Given the description of an element on the screen output the (x, y) to click on. 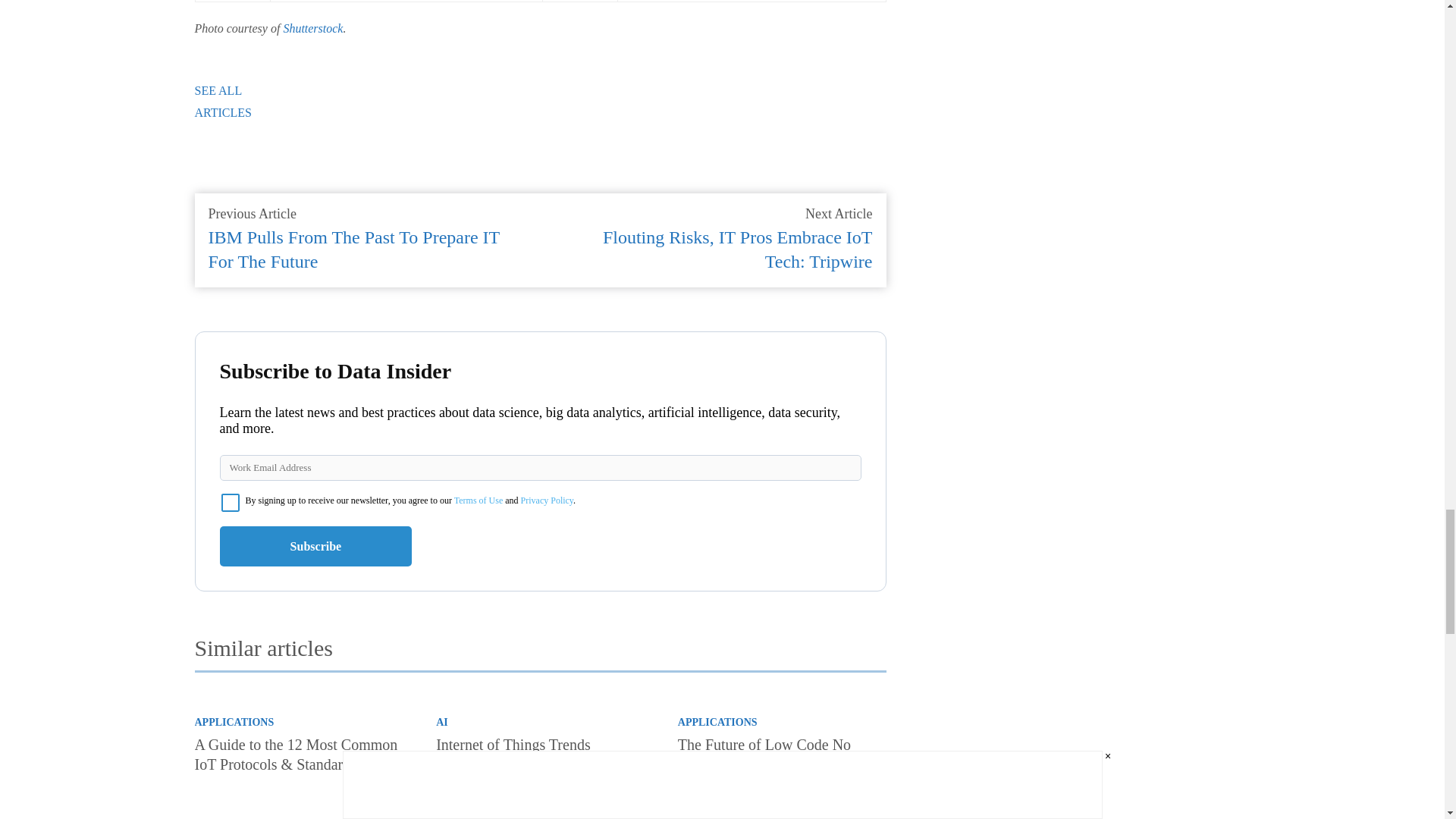
on (230, 502)
The Future of Low Code No Code (764, 754)
Internet of Things Trends (540, 798)
Internet of Things Trends (513, 744)
The Future of Low Code No Code (782, 798)
